Given the description of an element on the screen output the (x, y) to click on. 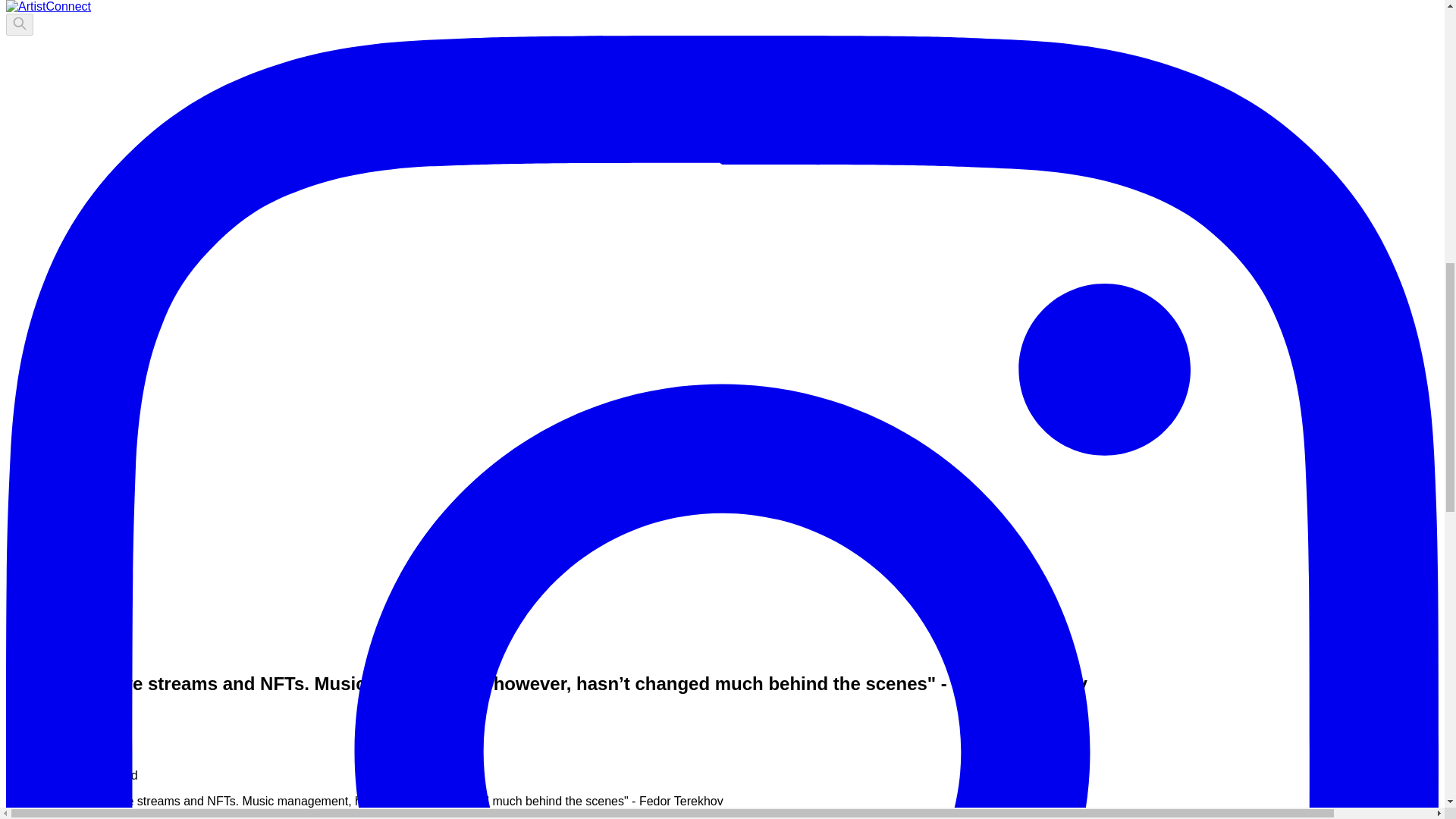
ArtistConnect (45, 745)
